Given the description of an element on the screen output the (x, y) to click on. 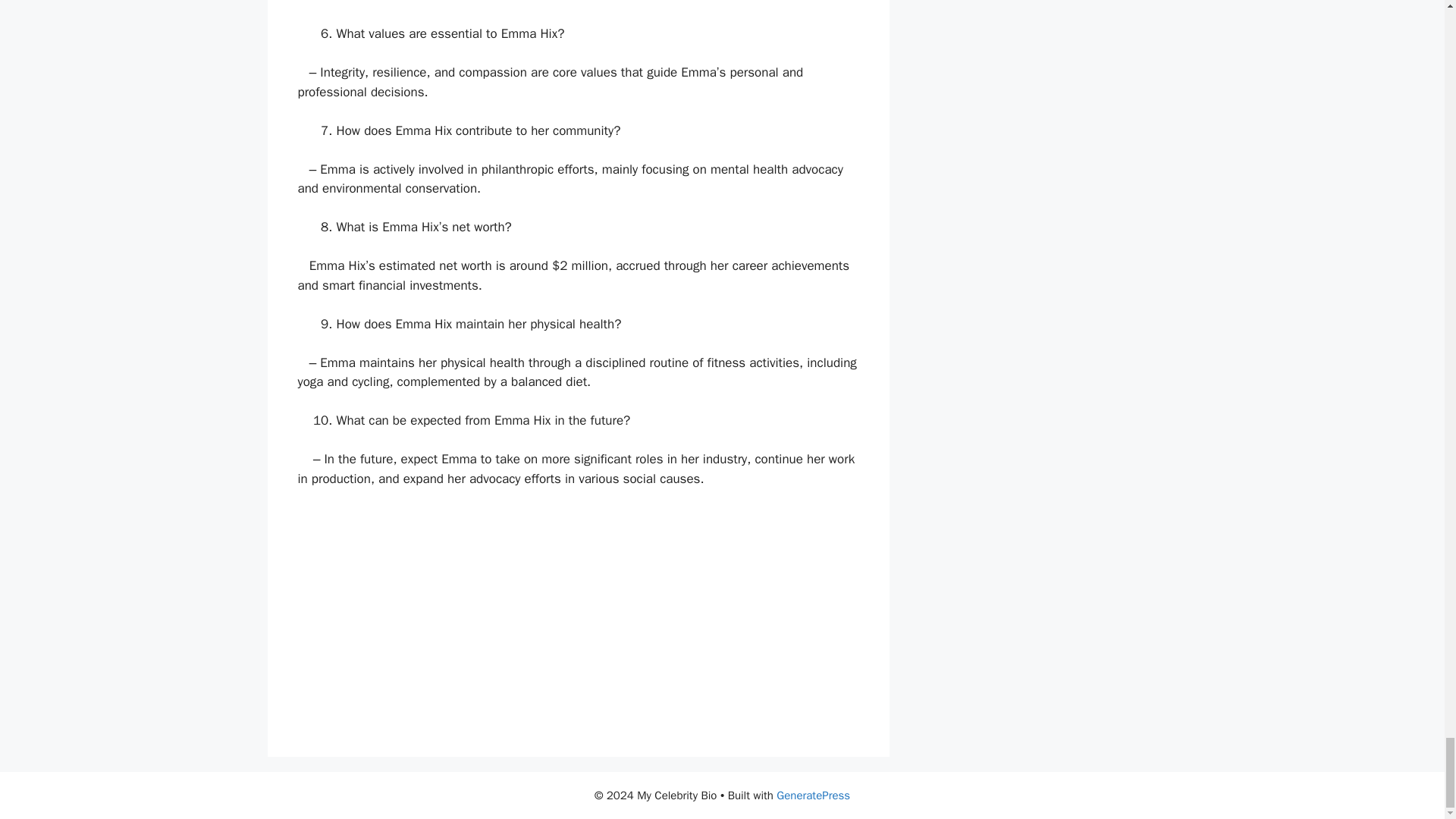
GeneratePress (813, 794)
